Given the description of an element on the screen output the (x, y) to click on. 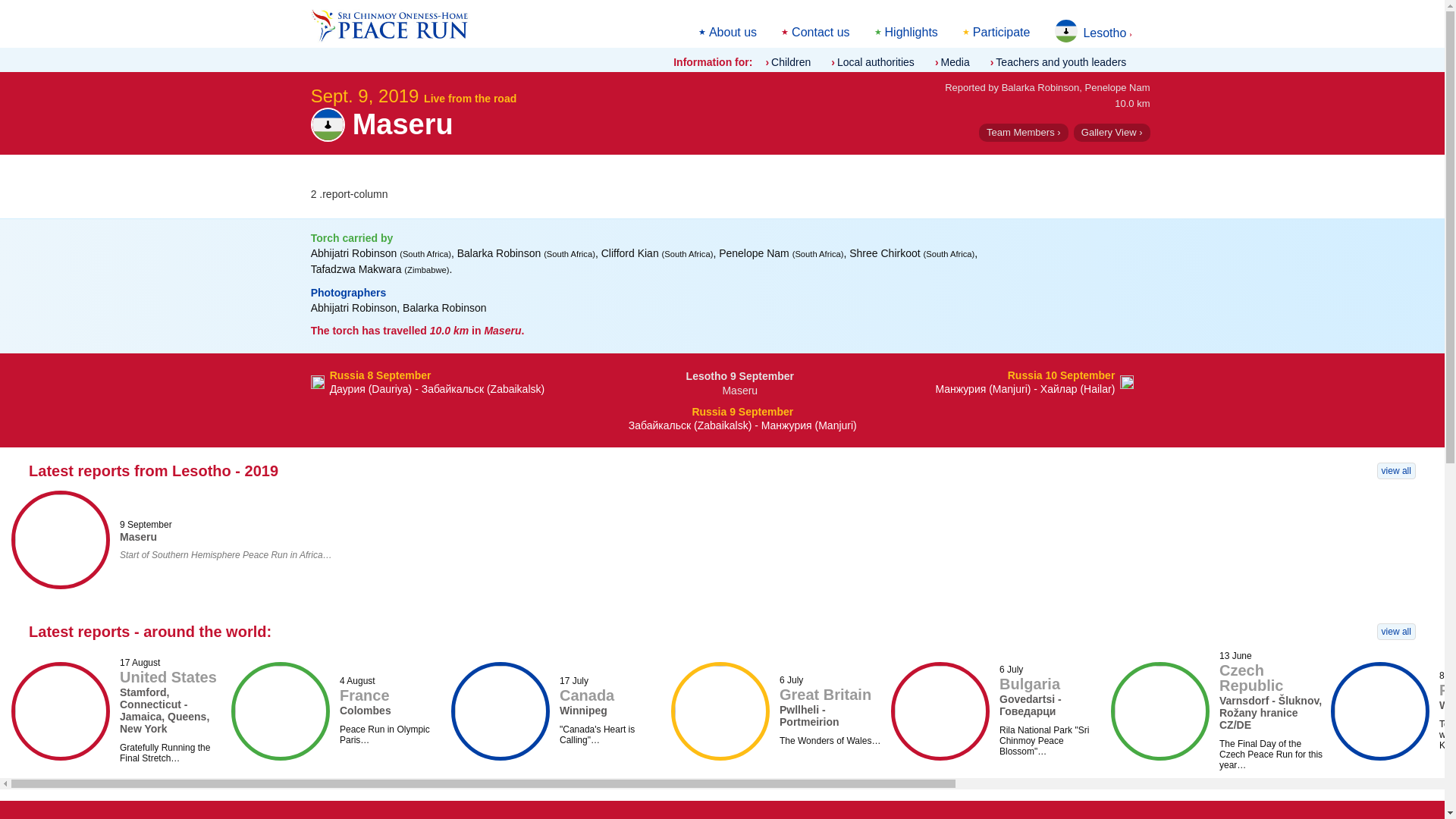
Contact us (820, 32)
Highlights (911, 32)
Participate (1001, 32)
About us (732, 32)
